Given the description of an element on the screen output the (x, y) to click on. 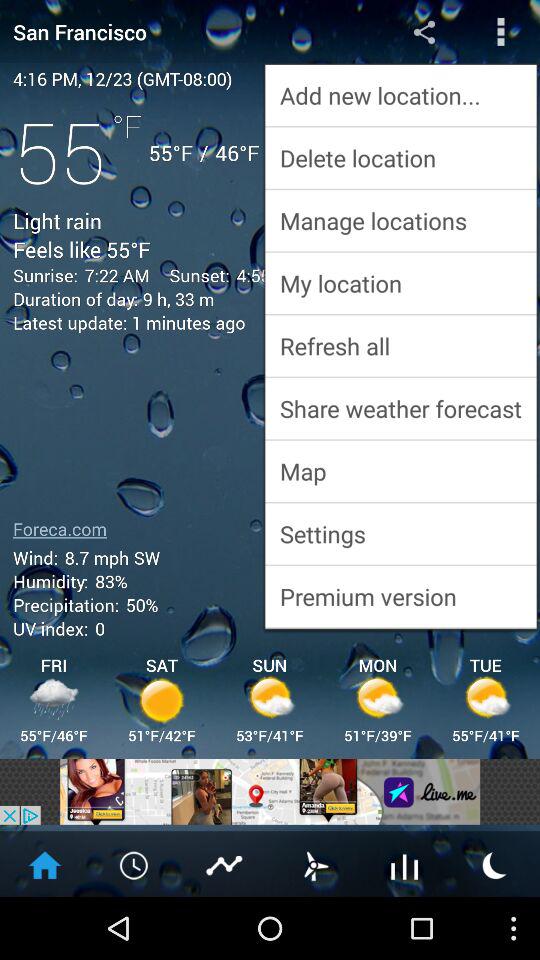
flip to the premium version (400, 595)
